Given the description of an element on the screen output the (x, y) to click on. 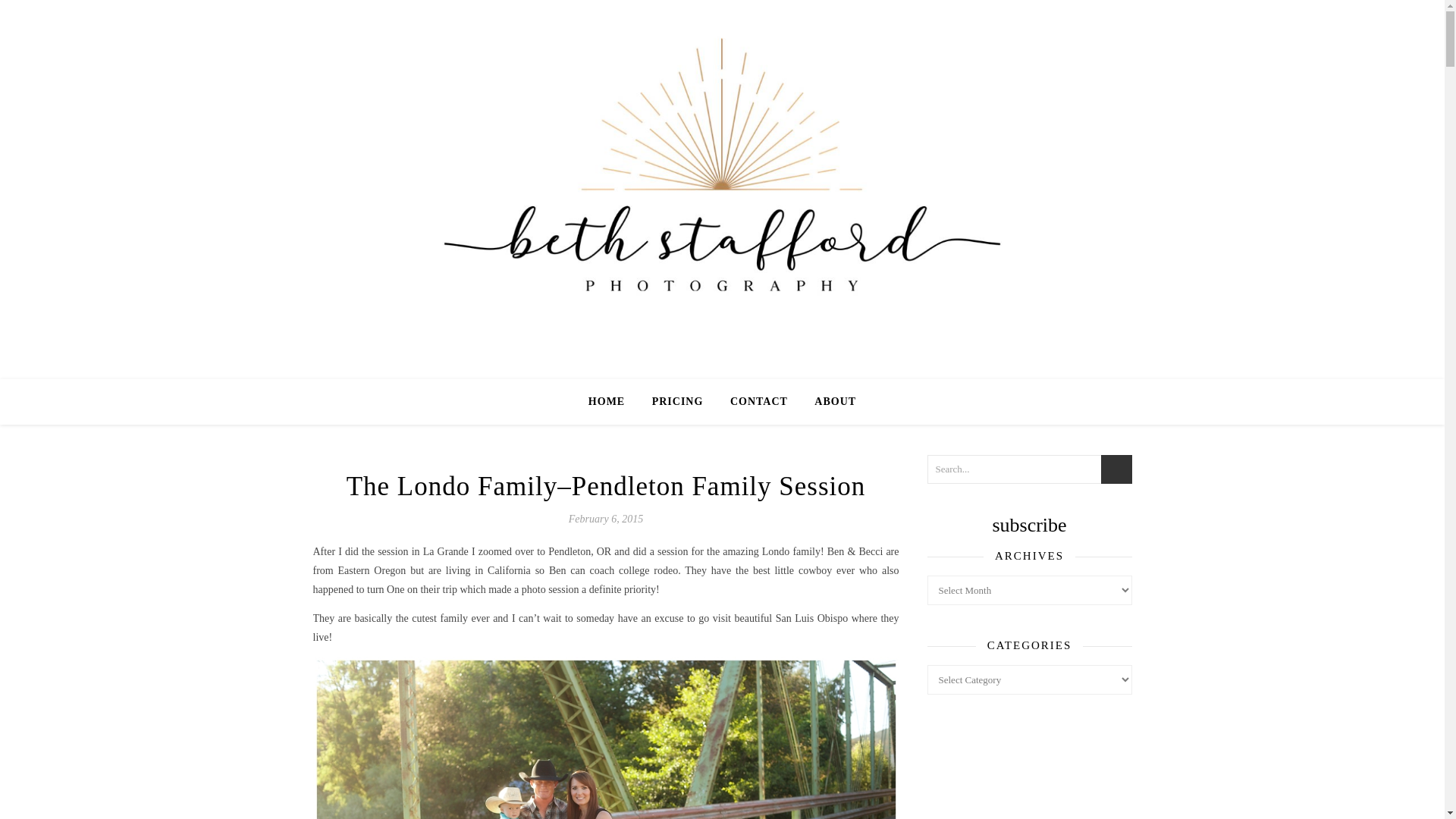
ABOUT (829, 402)
CONTACT (758, 402)
PRICING (678, 402)
HOME (612, 402)
